Given the description of an element on the screen output the (x, y) to click on. 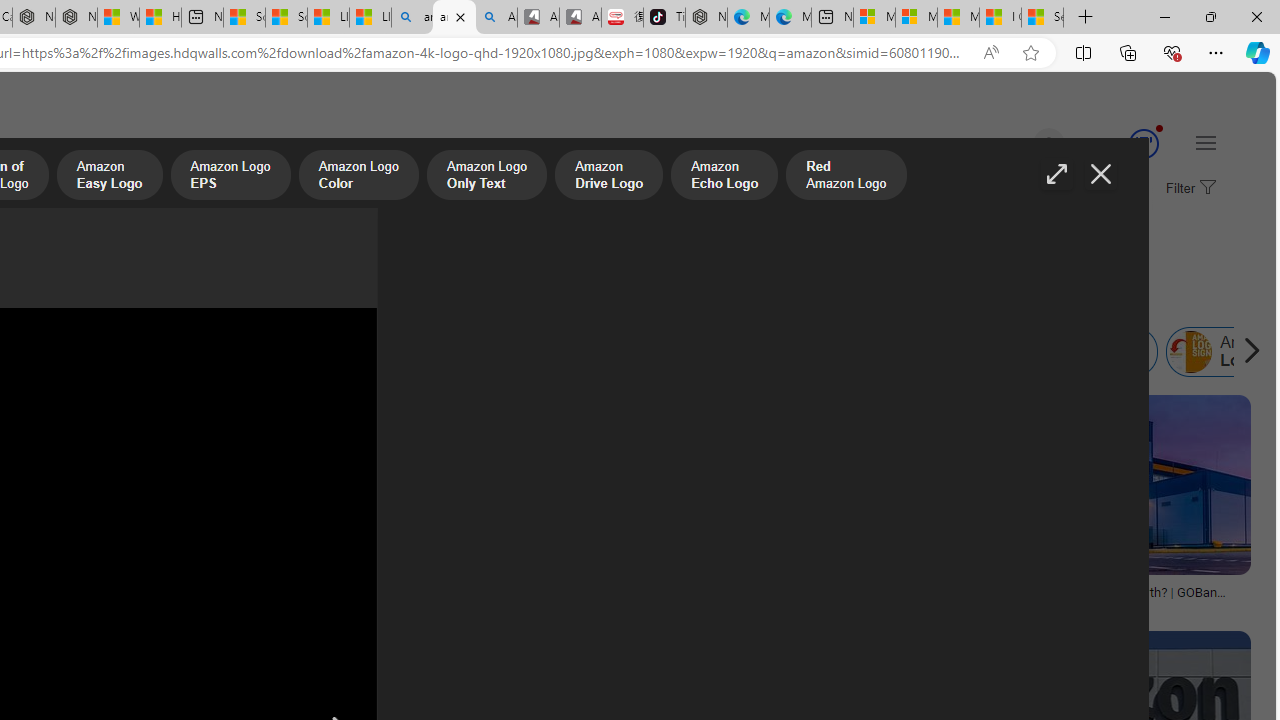
amazon - Search (411, 17)
Amazon Spain (759, 351)
Amazon Forest (517, 351)
GOBankingRates (1103, 606)
Amazon.com.au (343, 351)
Nordace - Best Sellers (706, 17)
Microsoft Rewards 141 (1119, 143)
Amazon Shoes (659, 351)
